Given the description of an element on the screen output the (x, y) to click on. 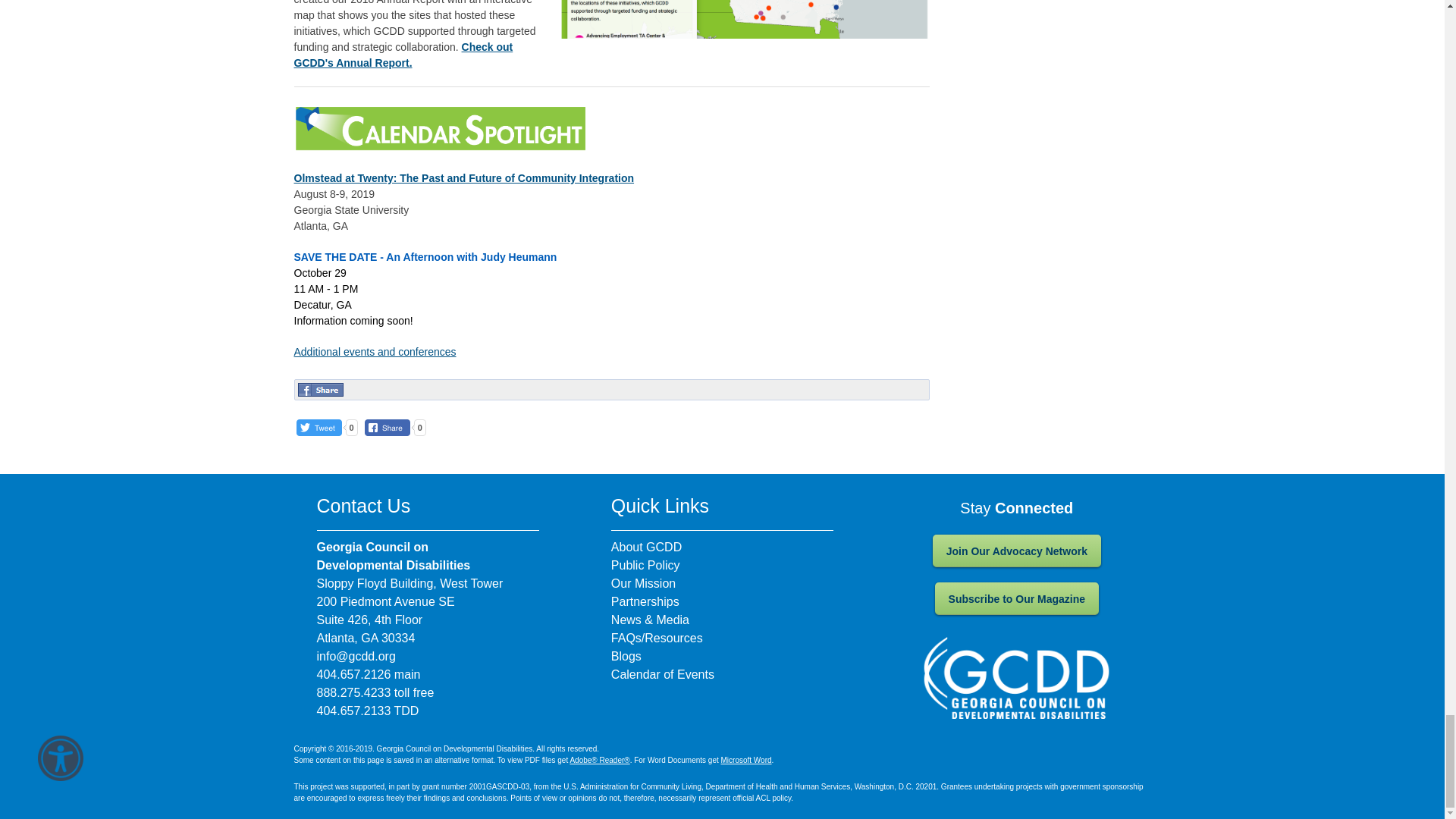
Calendar Spotlight (439, 128)
Calendar Spotlight (439, 127)
